Given the description of an element on the screen output the (x, y) to click on. 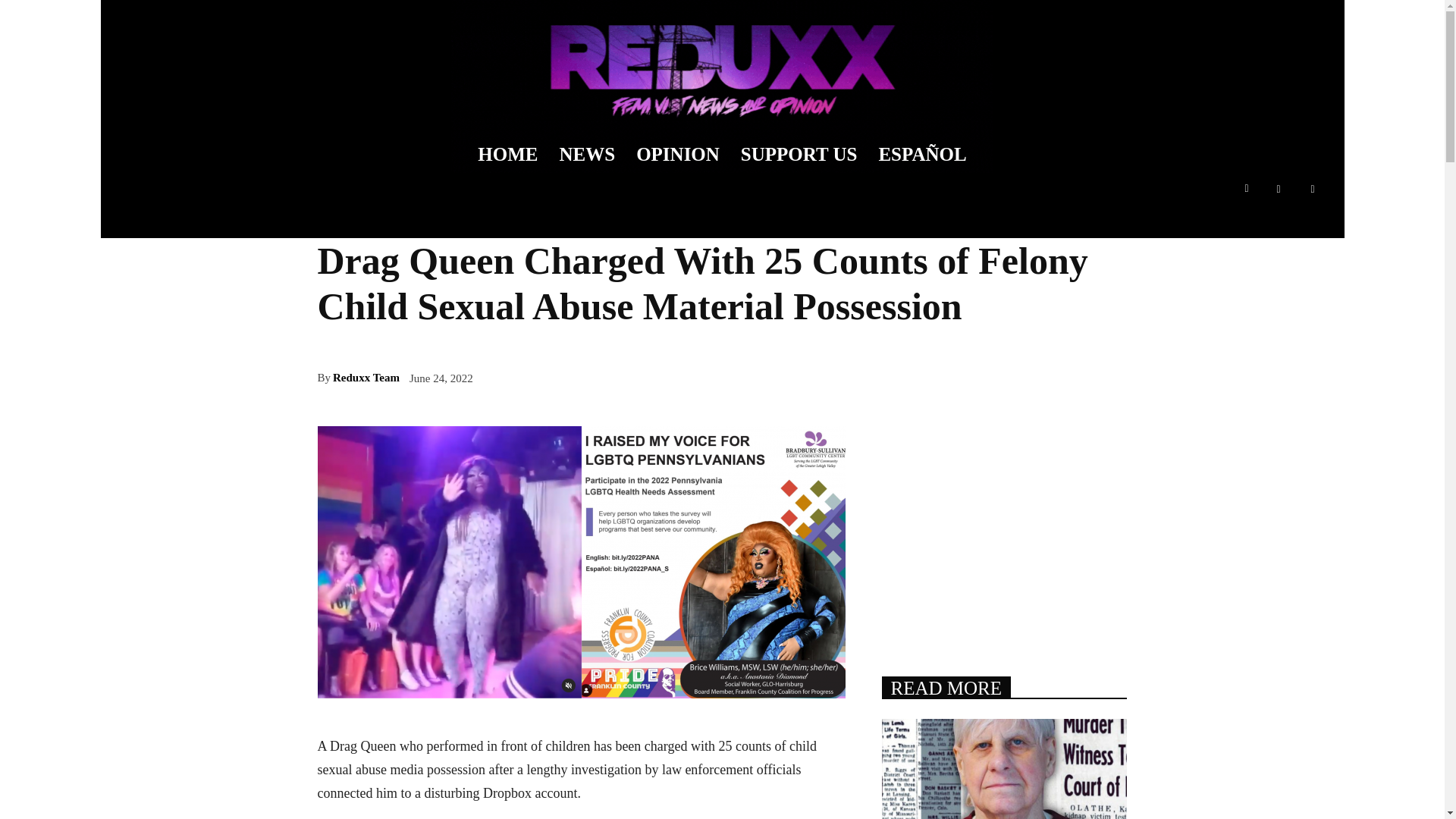
Reduxx Team (365, 377)
Twitter (1313, 188)
HOME (507, 154)
OPINION (678, 154)
NEWS (587, 154)
Instagram (1278, 188)
SUPPORT US (798, 154)
